Given the description of an element on the screen output the (x, y) to click on. 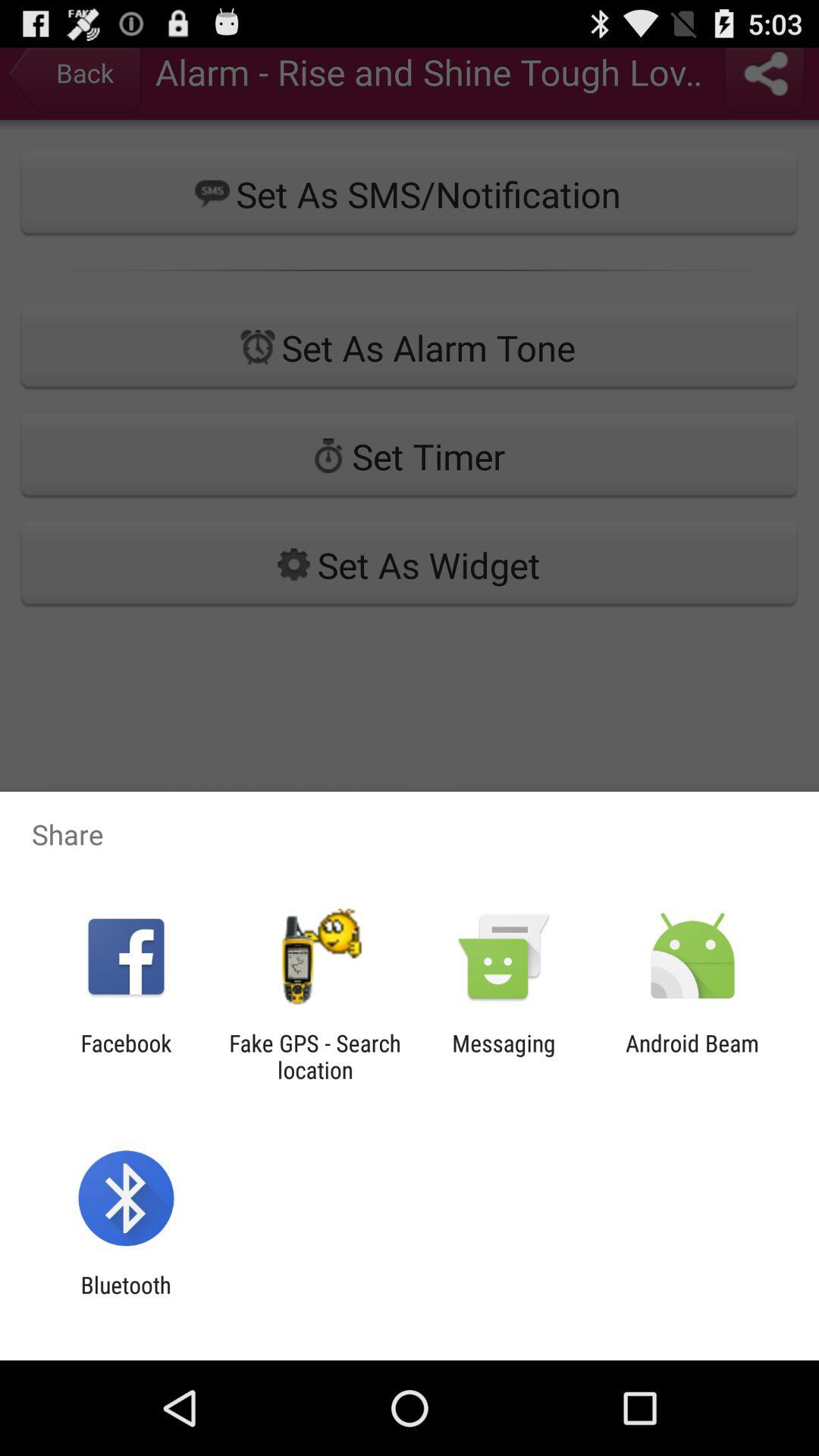
launch app next to the android beam app (503, 1056)
